Given the description of an element on the screen output the (x, y) to click on. 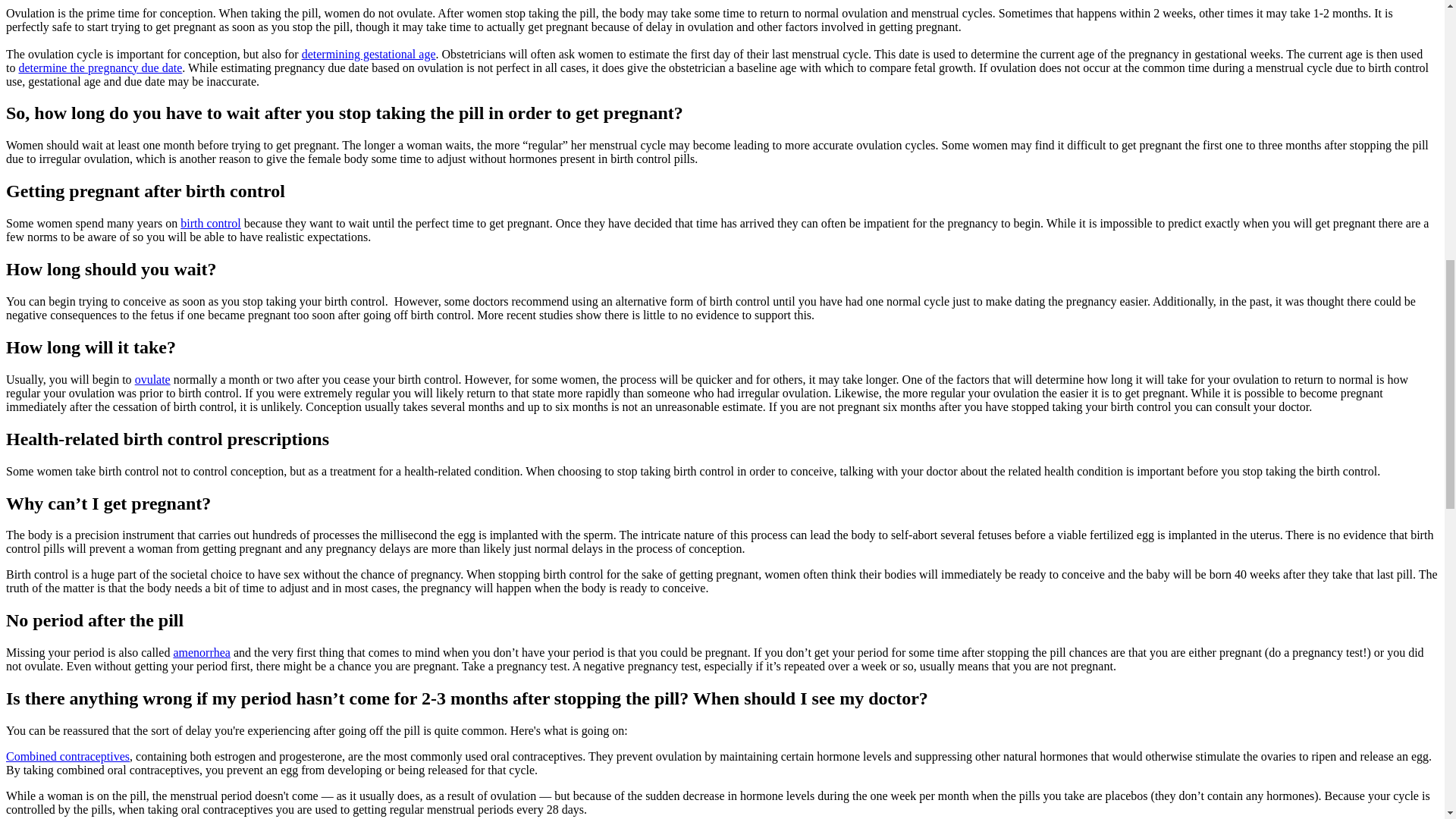
combination pill (67, 756)
birth control (210, 223)
ovulate (152, 379)
Combined contraceptives (67, 756)
determine the pregnancy due date (99, 67)
determining gestational age (368, 53)
amenorrhea (201, 652)
amenorrhea (201, 652)
